Given the description of an element on the screen output the (x, y) to click on. 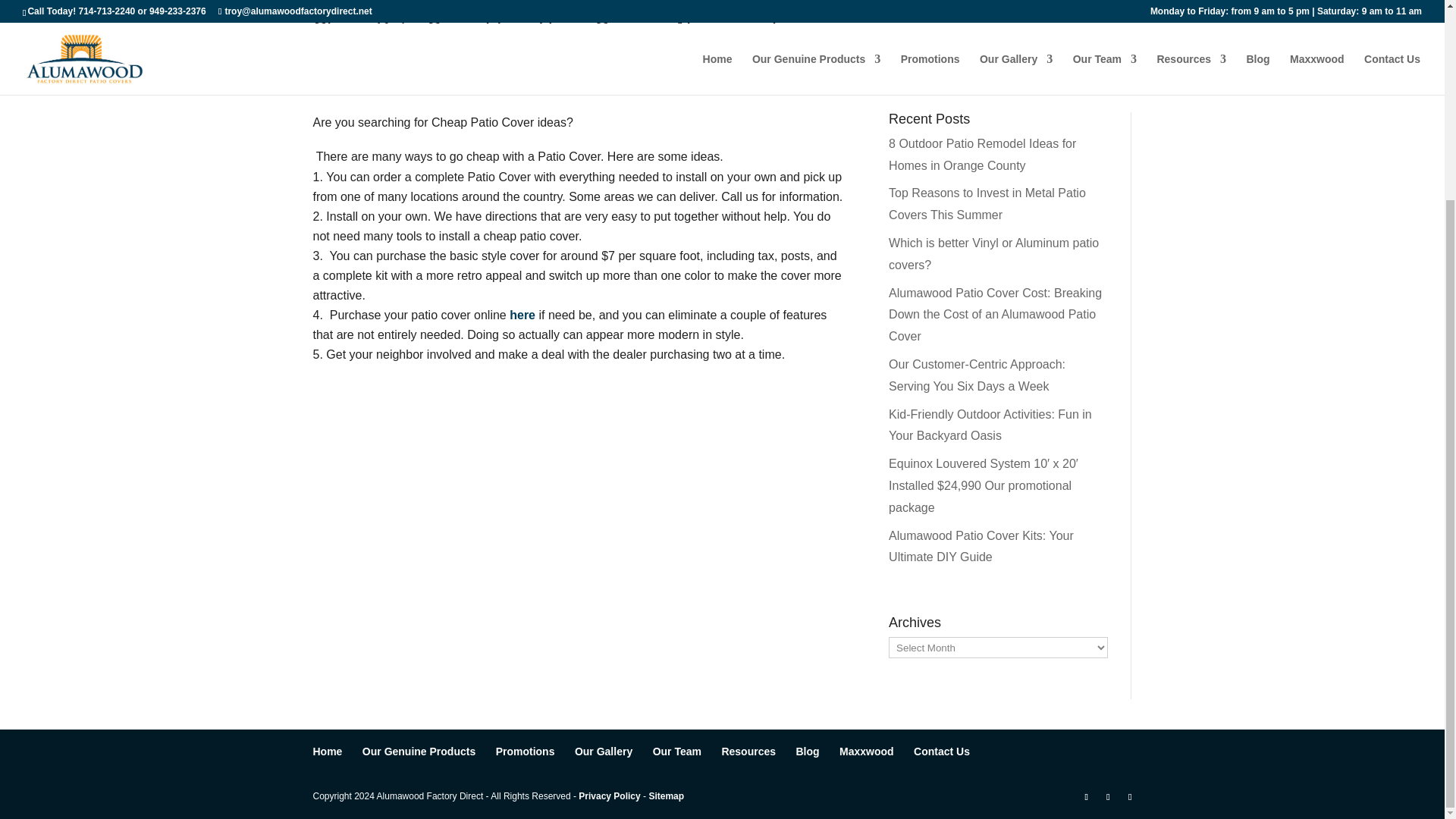
How to contact us. (941, 751)
Patio Cover service personel (676, 751)
